Given the description of an element on the screen output the (x, y) to click on. 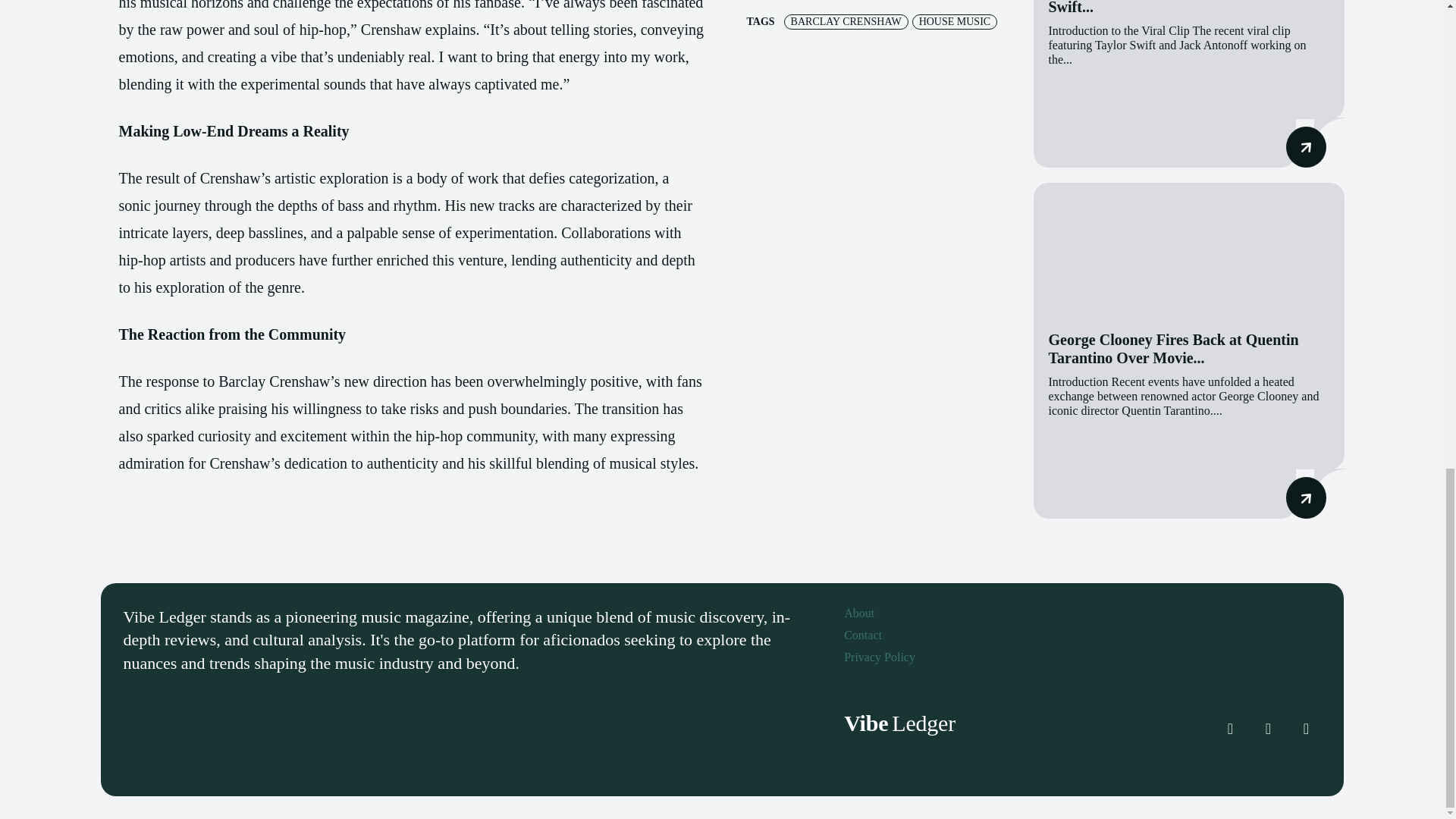
BARCLAY CRENSHAW (846, 21)
